Given the description of an element on the screen output the (x, y) to click on. 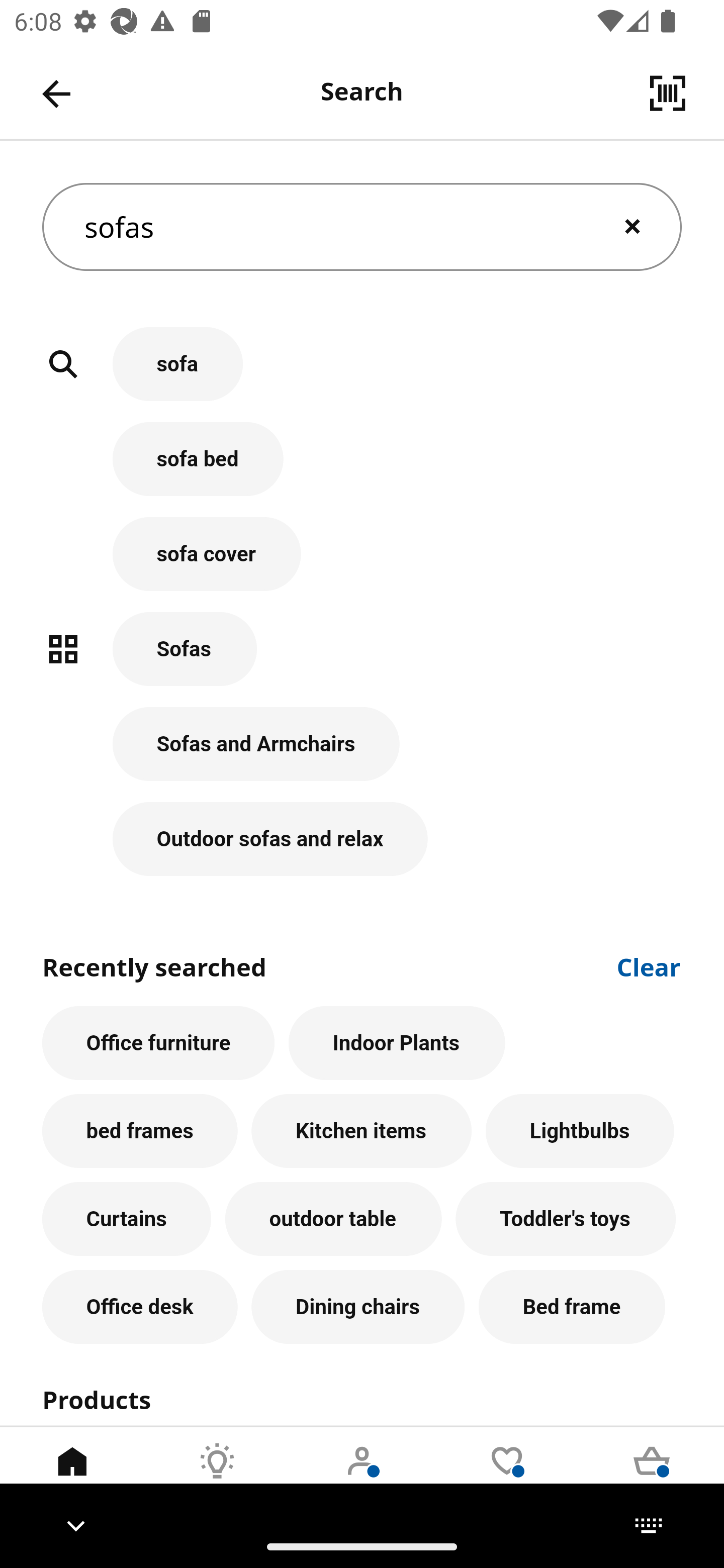
sofas (361, 227)
sofa (361, 374)
sofa bed (361, 469)
sofa cover (361, 564)
Sofas (361, 659)
Sofas and Armchairs (361, 754)
Outdoor sofas and relax (361, 839)
Clear (649, 965)
Office furniture (157, 1043)
Indoor Plants (396, 1043)
bed frames (139, 1131)
Kitchen items (361, 1131)
Lightbulbs (579, 1131)
Curtains (126, 1218)
outdoor table (333, 1218)
Toddler's toys (565, 1218)
Office desk (139, 1306)
Dining chairs (357, 1306)
Bed frame (571, 1306)
Home
Tab 1 of 5 (72, 1476)
Inspirations
Tab 2 of 5 (216, 1476)
User
Tab 3 of 5 (361, 1476)
Wishlist
Tab 4 of 5 (506, 1476)
Cart
Tab 5 of 5 (651, 1476)
